Given the description of an element on the screen output the (x, y) to click on. 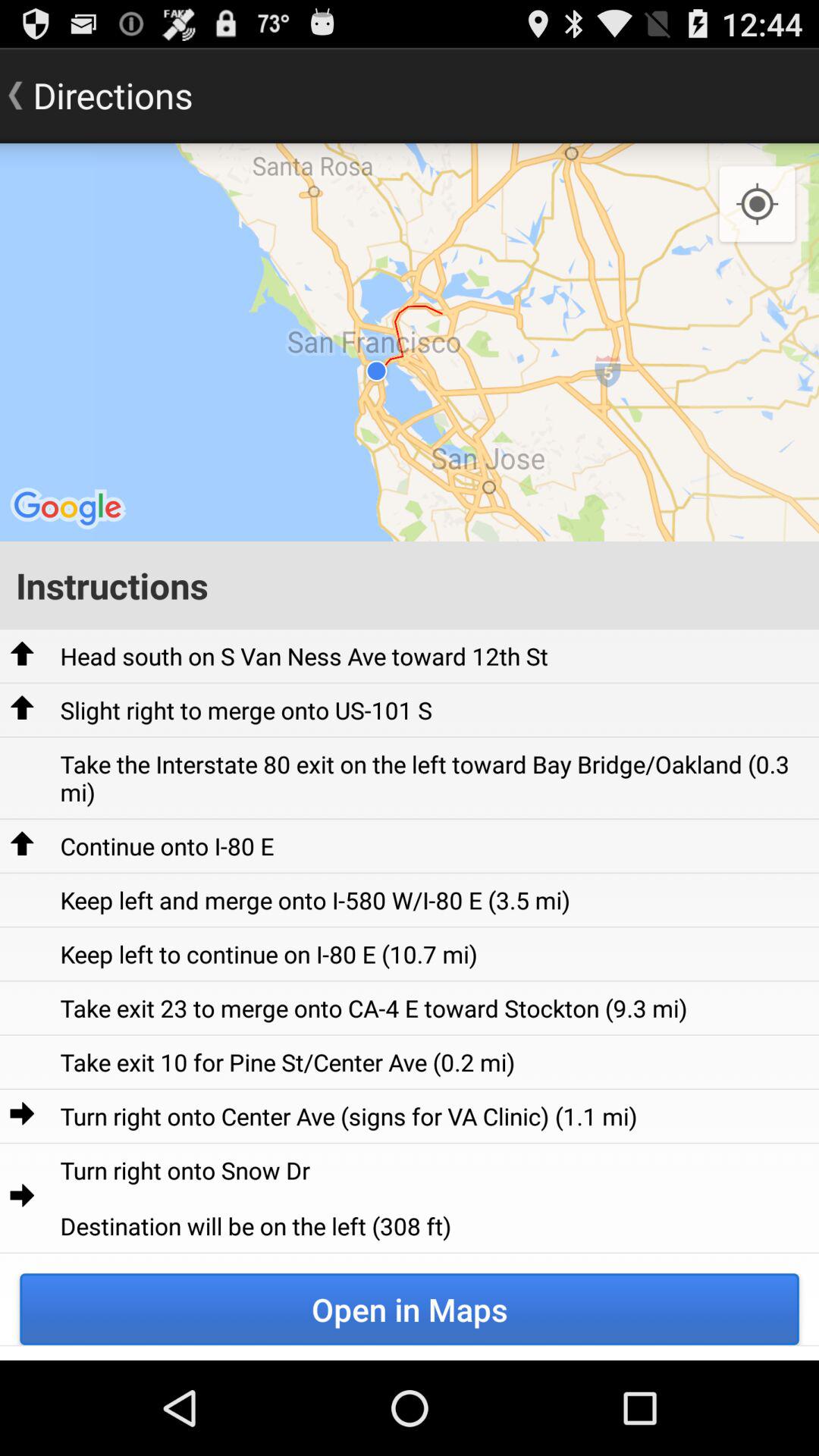
tap the app below directions icon (409, 342)
